Given the description of an element on the screen output the (x, y) to click on. 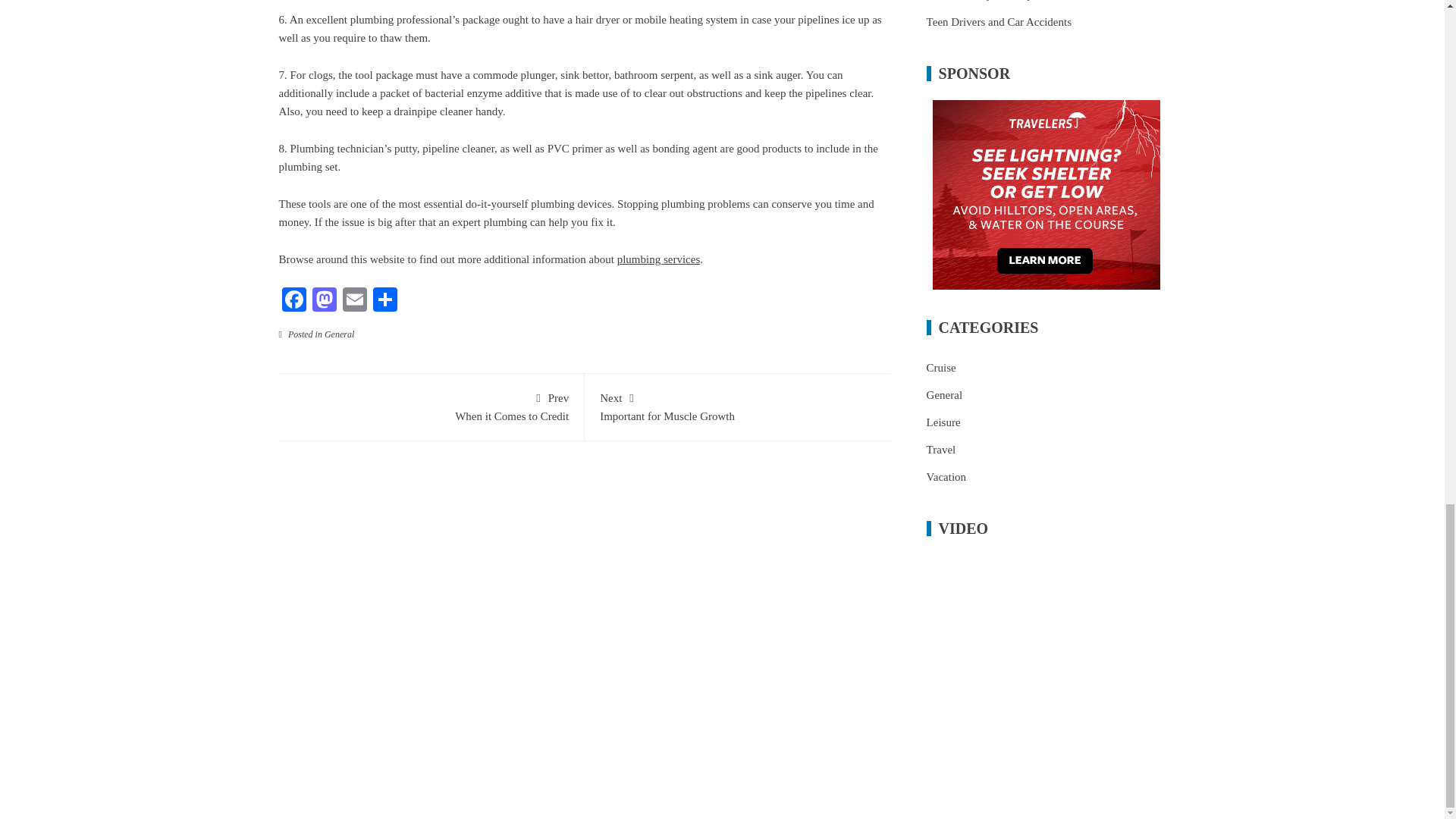
General (737, 405)
Cruise (338, 334)
Facebook (941, 367)
AC Efficiency and Repair Prevention (293, 301)
Email (293, 301)
Email (354, 301)
Mastodon (431, 405)
